Given the description of an element on the screen output the (x, y) to click on. 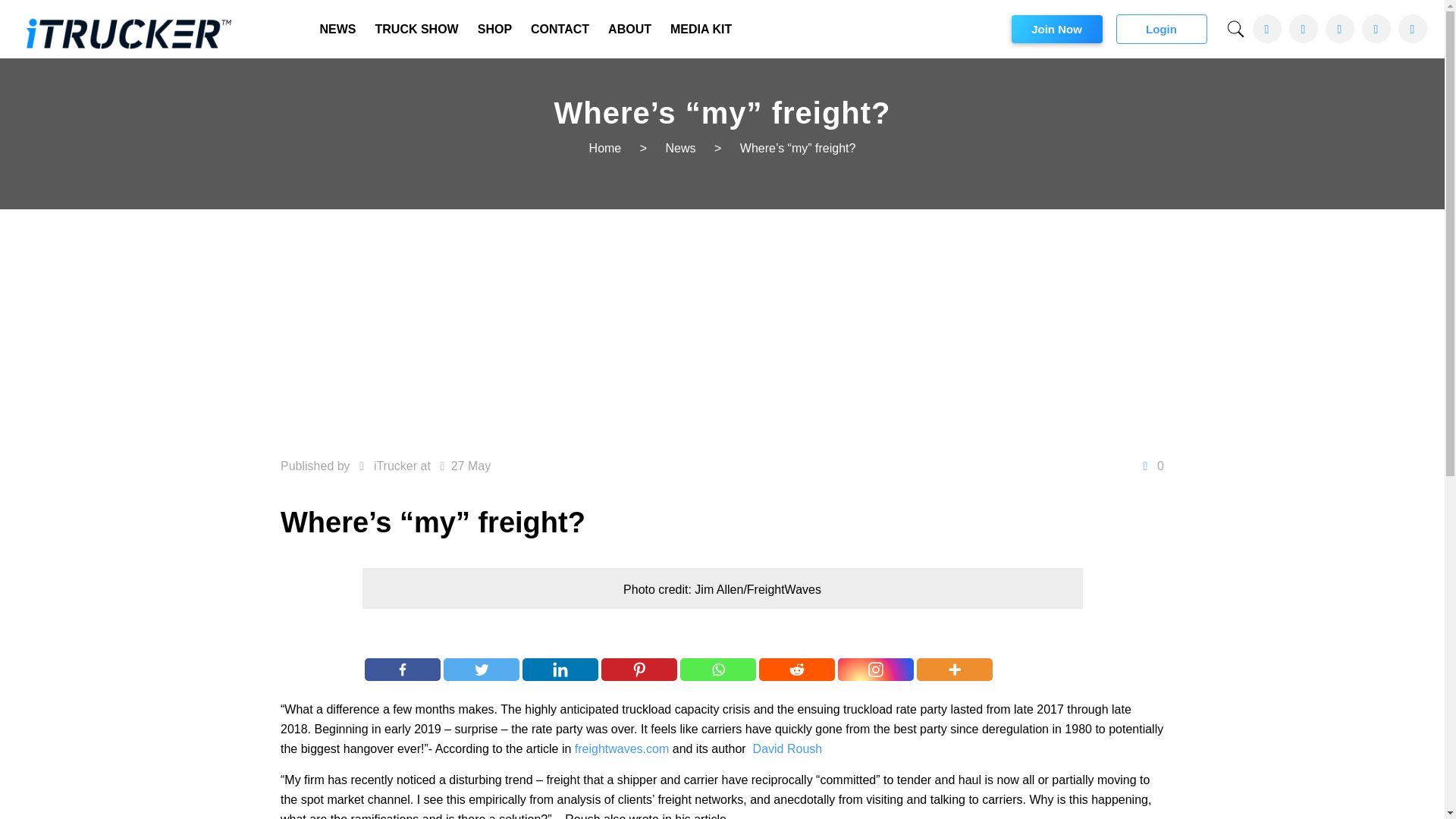
MEDIA KIT (700, 29)
NEWS (338, 29)
freightwaves.com (622, 748)
Facebook (403, 669)
LinkedIn (1375, 29)
0 (1150, 465)
CONTACT (560, 29)
Linkedin (560, 669)
Whatsapp (717, 669)
TRUCK SHOW (416, 29)
ABOUT (629, 29)
More (954, 669)
Reddit (796, 669)
Join Now (1056, 29)
Instagram (876, 669)
